Given the description of an element on the screen output the (x, y) to click on. 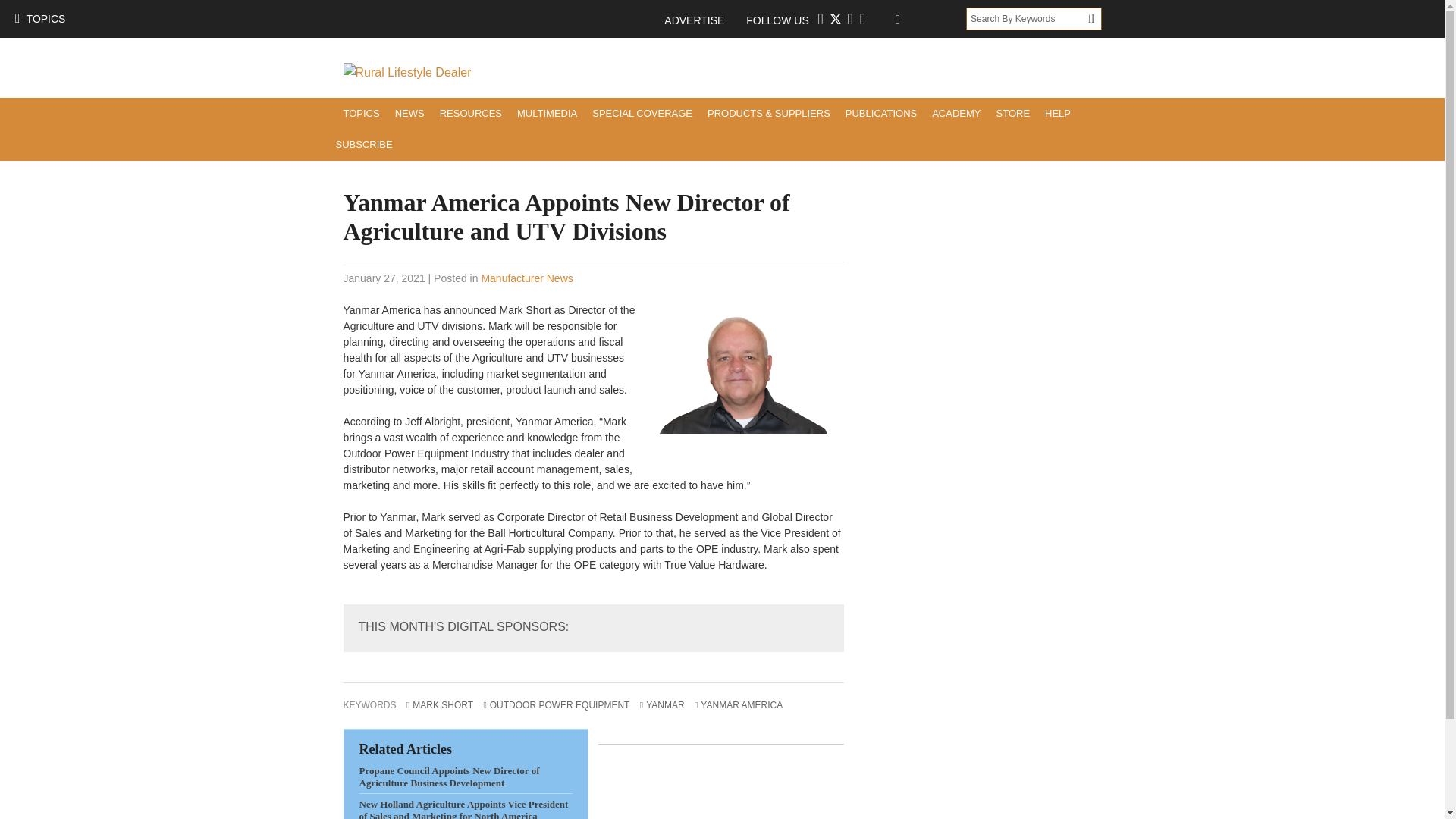
TOPICS (360, 112)
ADVERTISE (701, 20)
Search By Keywords (1026, 18)
TOPICS (39, 18)
Search By Keywords (1026, 18)
NEWS (409, 112)
